Given the description of an element on the screen output the (x, y) to click on. 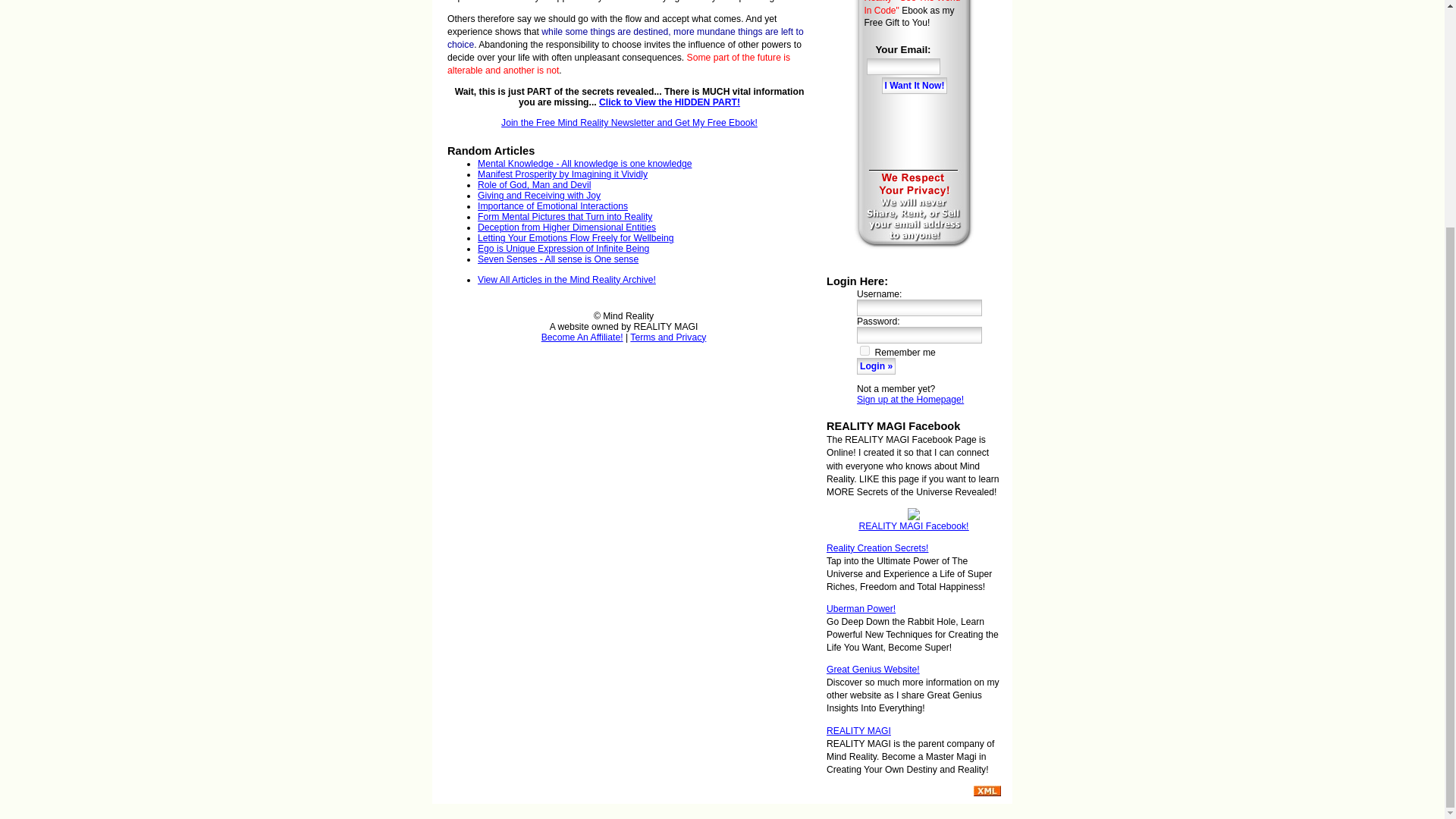
Mental Knowledge - All knowledge is one knowledge (584, 163)
1 (864, 350)
Deception from Higher Dimensional Entities (566, 226)
View All Articles in the Mind Reality Archive! (566, 279)
Sign up at the Homepage! (910, 398)
Great Genius Website! (873, 669)
Become An Affiliate! (582, 337)
REALITY MAGI Facebook! (913, 525)
Terms and Privacy (668, 337)
I Want It Now! (914, 85)
